Given the description of an element on the screen output the (x, y) to click on. 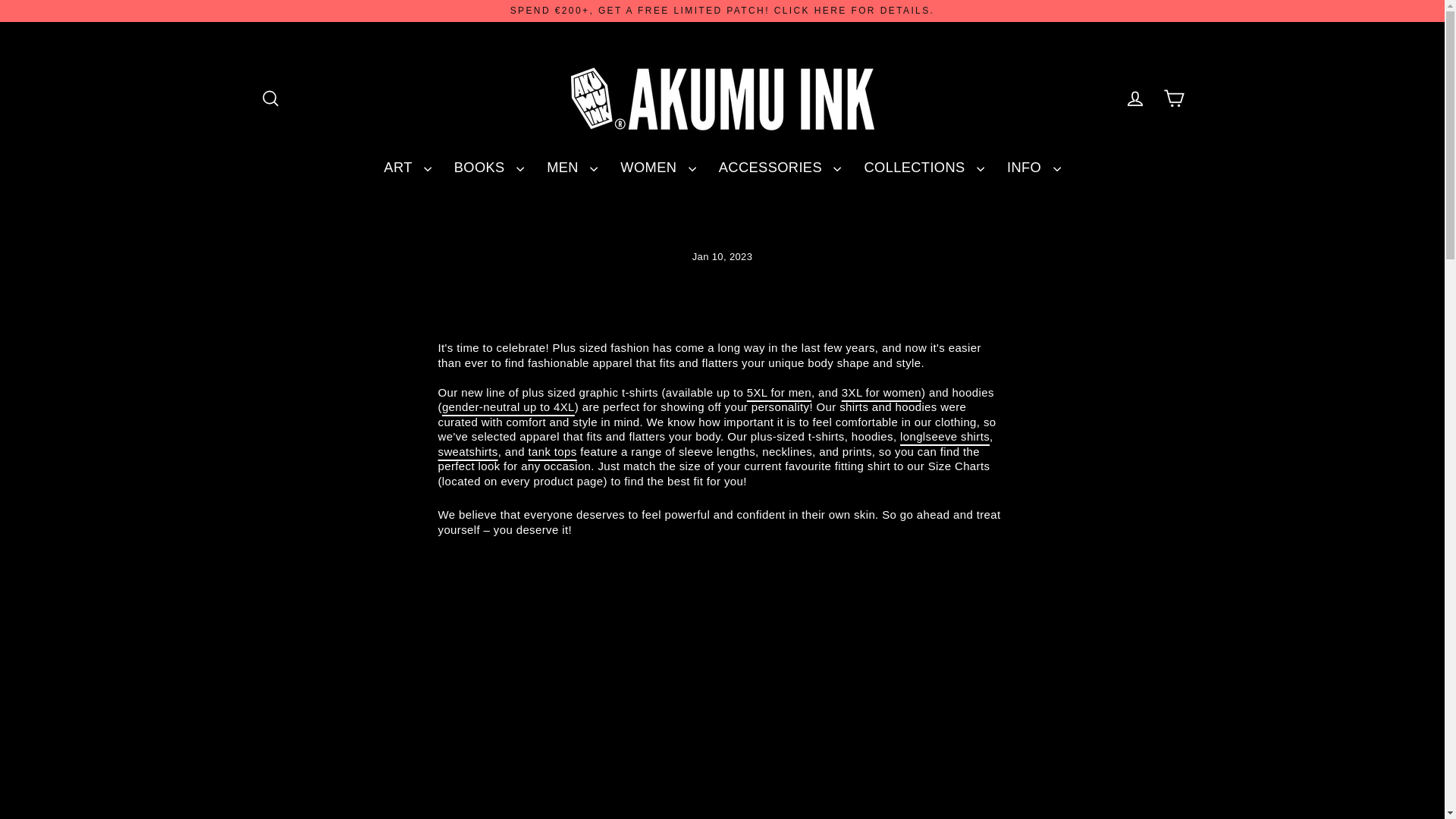
YouTube video player (650, 689)
